Given the description of an element on the screen output the (x, y) to click on. 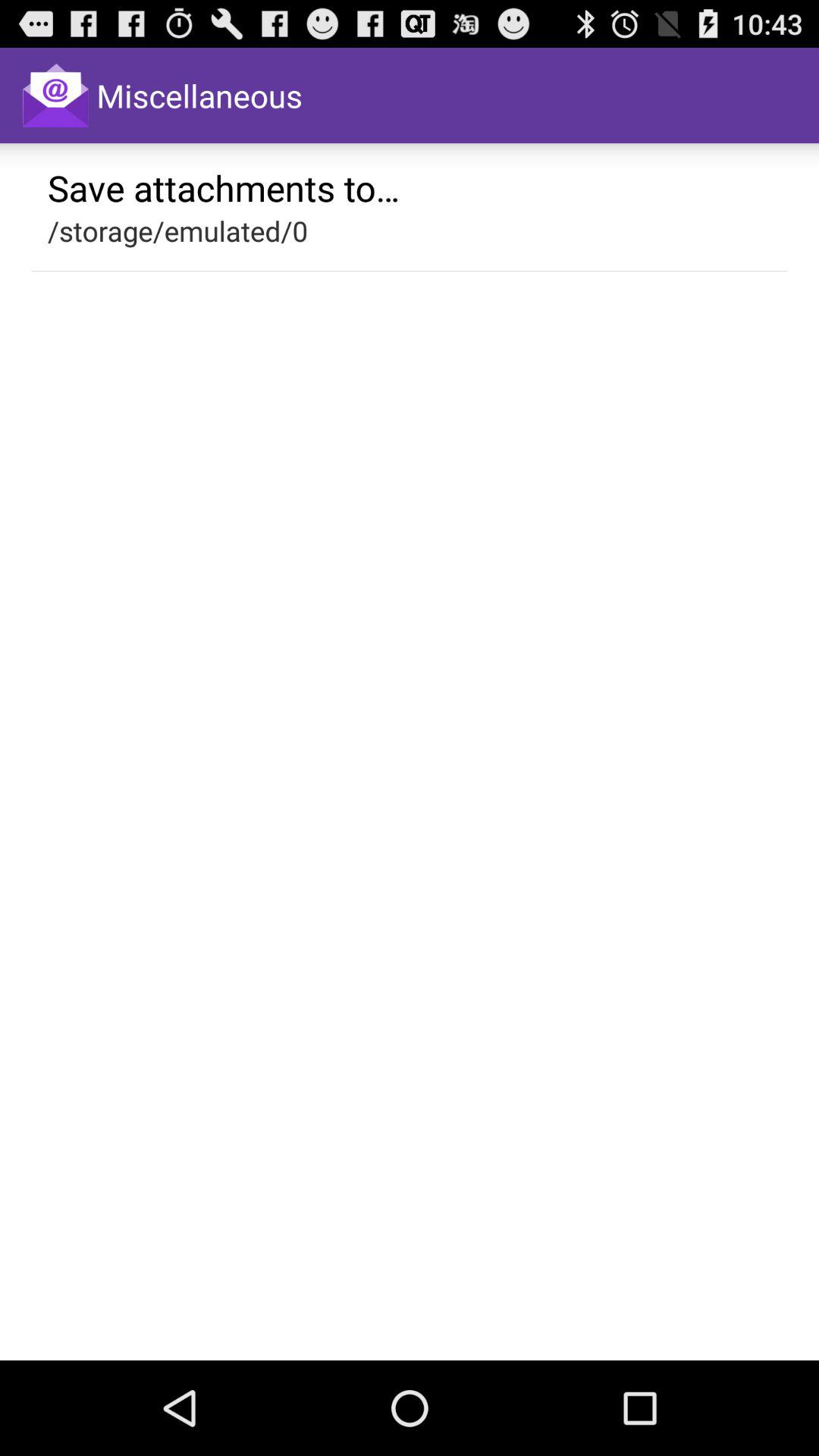
launch the icon above the /storage/emulated/0 item (223, 187)
